Given the description of an element on the screen output the (x, y) to click on. 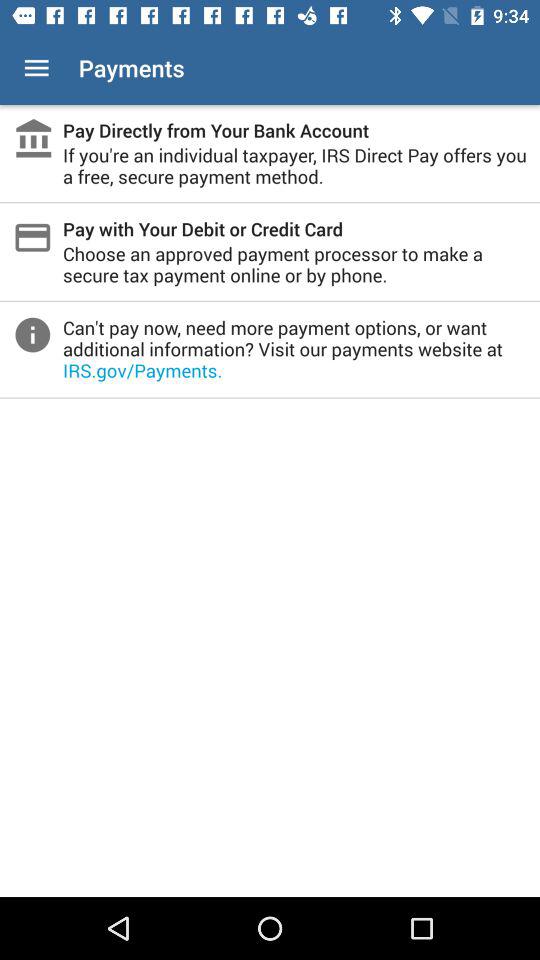
choose item to the left of the payments app (36, 68)
